Given the description of an element on the screen output the (x, y) to click on. 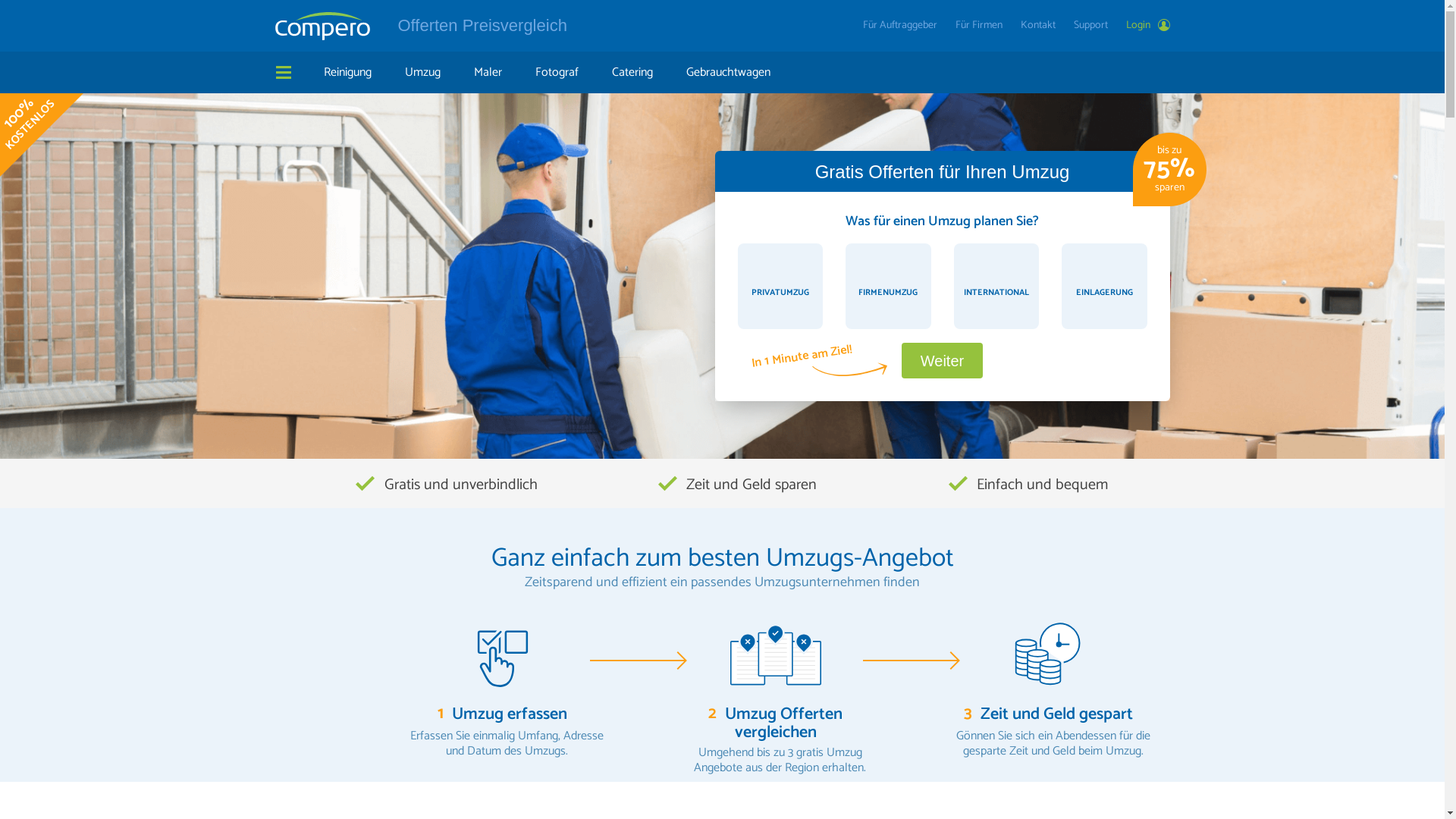
Gebrauchtwagen Element type: text (727, 72)
Reinigung Element type: text (346, 72)
Catering Element type: text (631, 72)
schritt-2 Element type: hover (774, 653)
Kontakt Element type: text (1037, 25)
Home Element type: hover (321, 25)
Login Element type: text (1141, 25)
hiw-money Element type: hover (1047, 653)
Weiter Element type: text (941, 360)
Support Element type: text (1090, 25)
Maler Element type: text (486, 72)
Fotograf Element type: text (556, 72)
Umzug Element type: text (422, 72)
hiw-checkbox Element type: hover (501, 653)
